Given the description of an element on the screen output the (x, y) to click on. 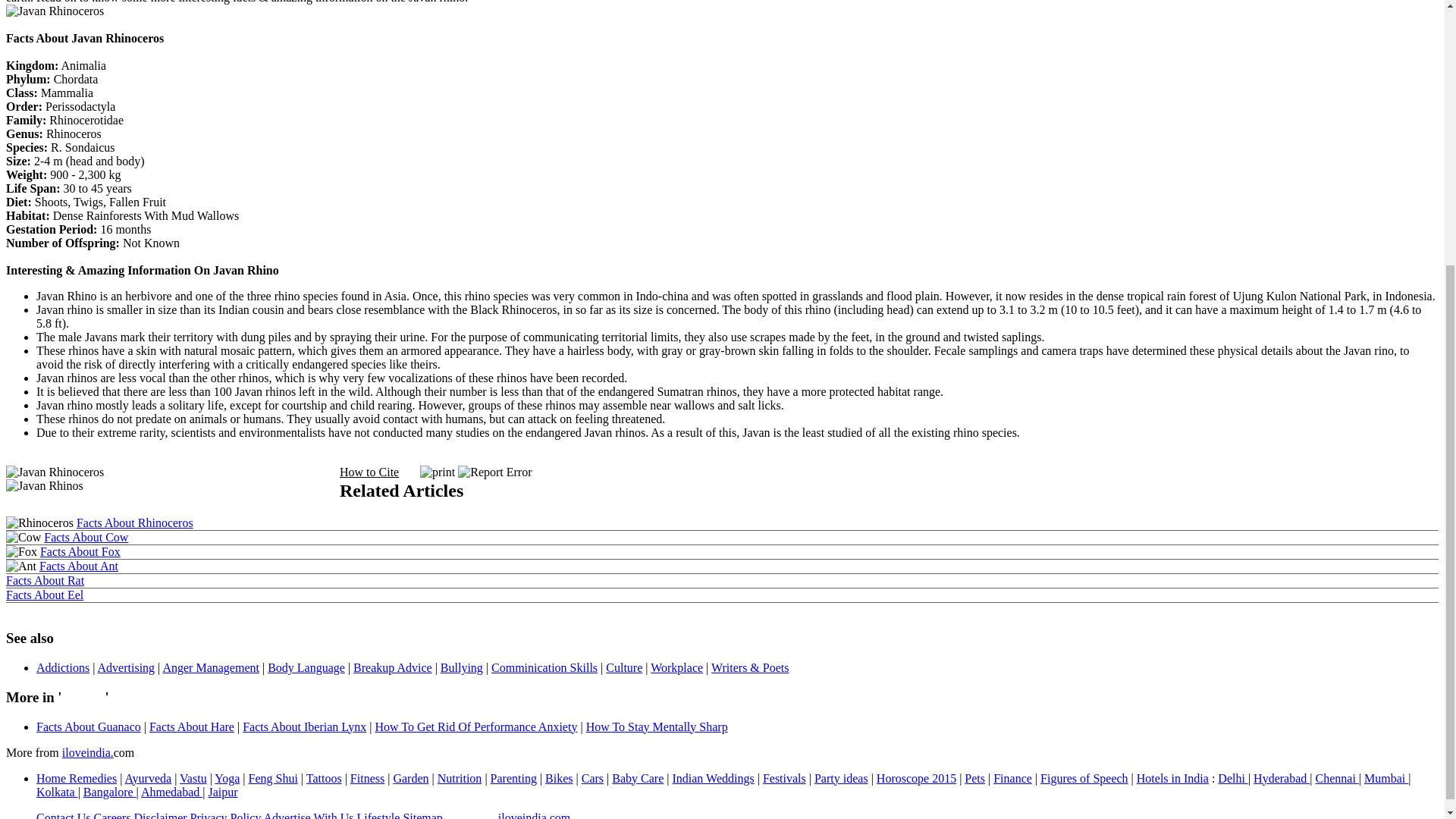
Facts About Cow (85, 536)
Anger Management (210, 667)
Body Language (306, 667)
Facts About Eel (43, 594)
Comminication Skills (544, 667)
Addictions (62, 667)
Bullying (462, 667)
Facts About Rhinoceros (135, 522)
Breakup Advice (392, 667)
Advertising (126, 667)
Culture (623, 667)
Facts About Rat (44, 580)
Facts About Ant (78, 565)
Facts About Fox (80, 551)
